Given the description of an element on the screen output the (x, y) to click on. 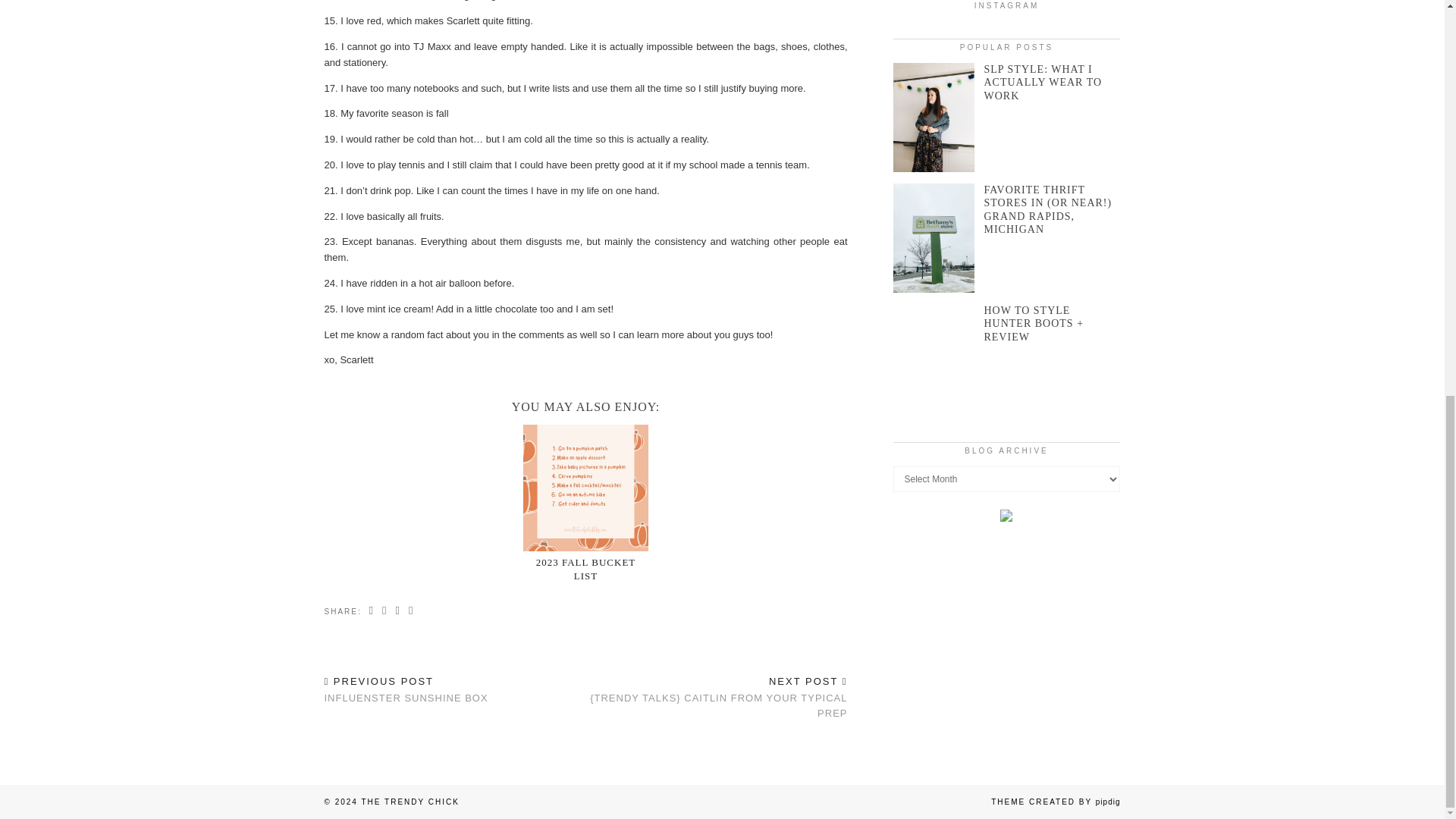
Share on tumblr (410, 611)
2023 Fall Bucket List (585, 488)
Share on Pinterest (397, 611)
Share on Twitter (384, 611)
2023 Fall Bucket List (405, 690)
2023 FALL BUCKET LIST (585, 568)
Share on Facebook (585, 568)
